Given the description of an element on the screen output the (x, y) to click on. 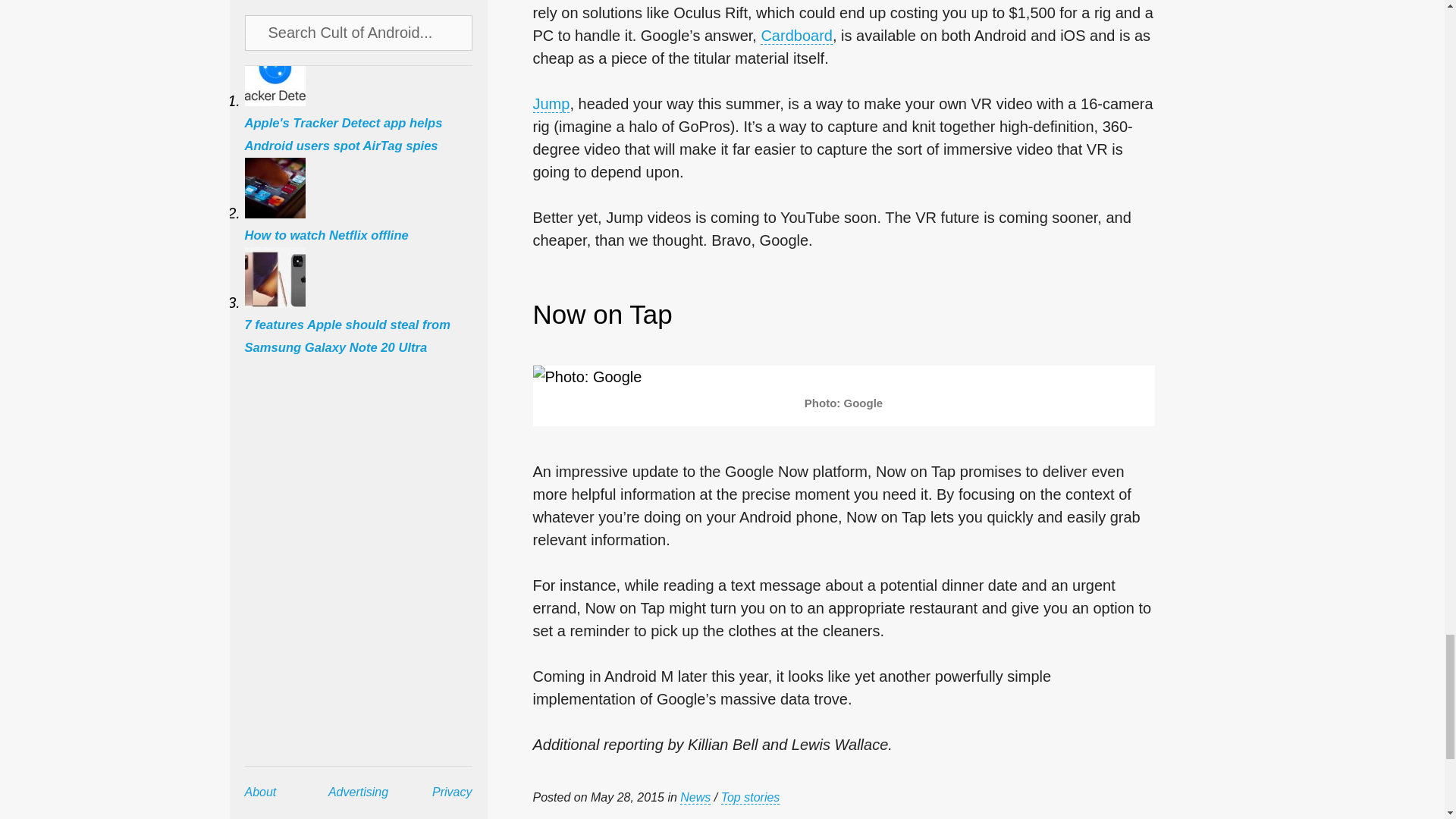
News (694, 797)
Cardboard (796, 36)
Jump (550, 104)
Top stories (750, 797)
